Given the description of an element on the screen output the (x, y) to click on. 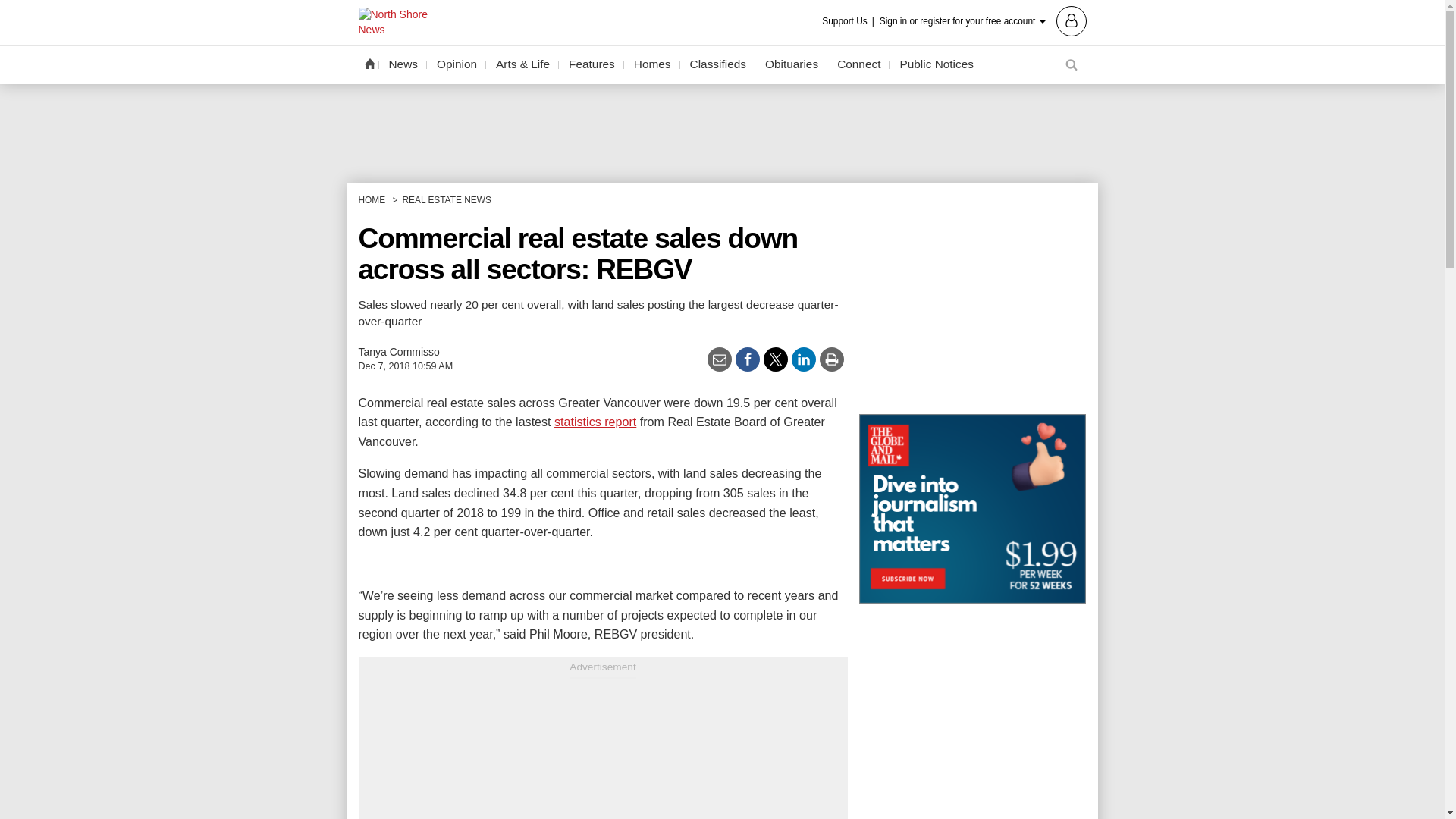
Home (368, 63)
Sign in or register for your free account (982, 20)
Support Us (849, 21)
Opinion (456, 64)
News (403, 64)
